Given the description of an element on the screen output the (x, y) to click on. 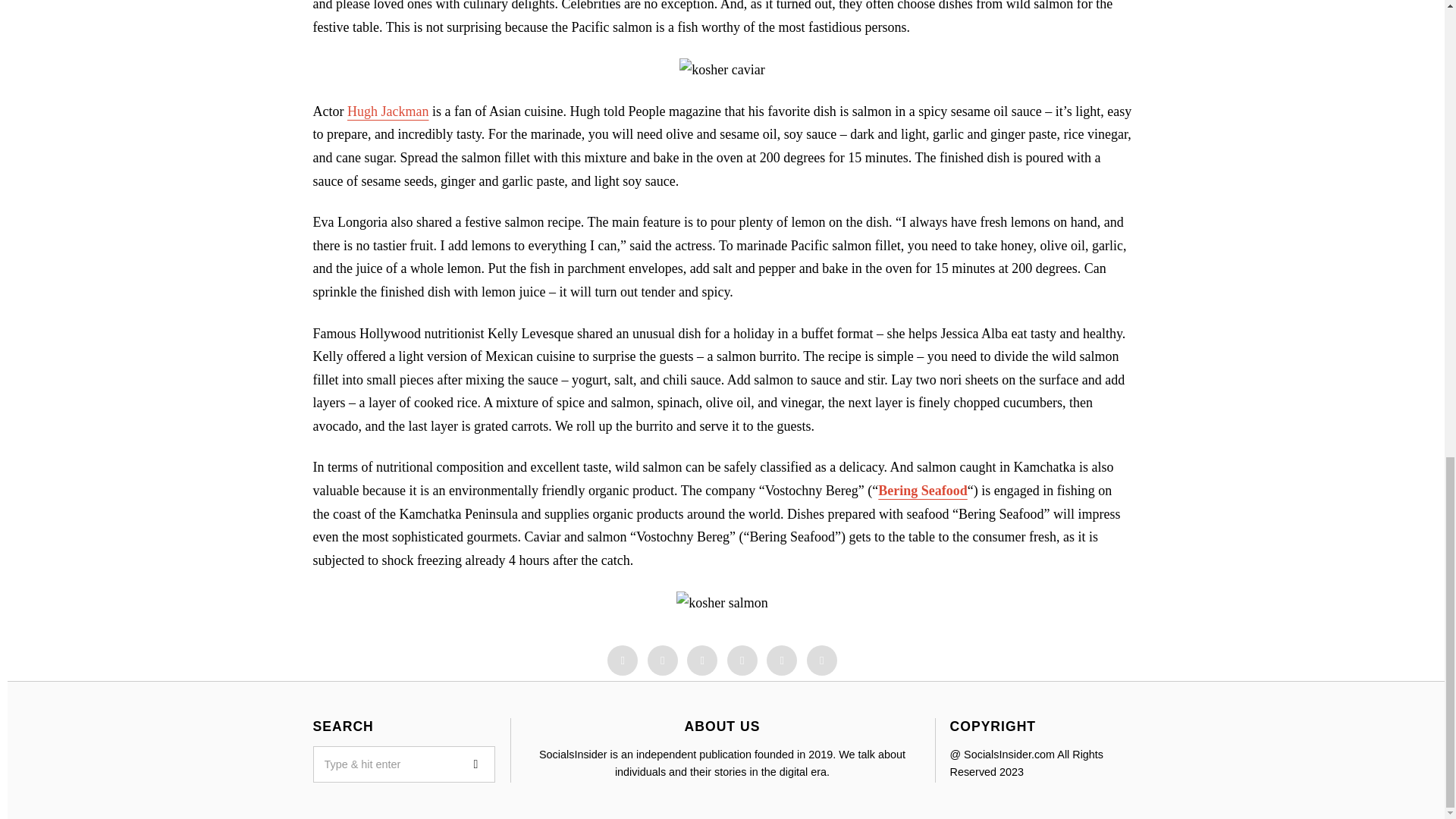
Go (476, 764)
Messenger (662, 660)
Whatsapp (781, 660)
Twitter (702, 660)
Linkedin (741, 660)
Hugh Jackman (387, 111)
Email (821, 660)
Facebook (622, 660)
Bering Seafood (922, 490)
